Given the description of an element on the screen output the (x, y) to click on. 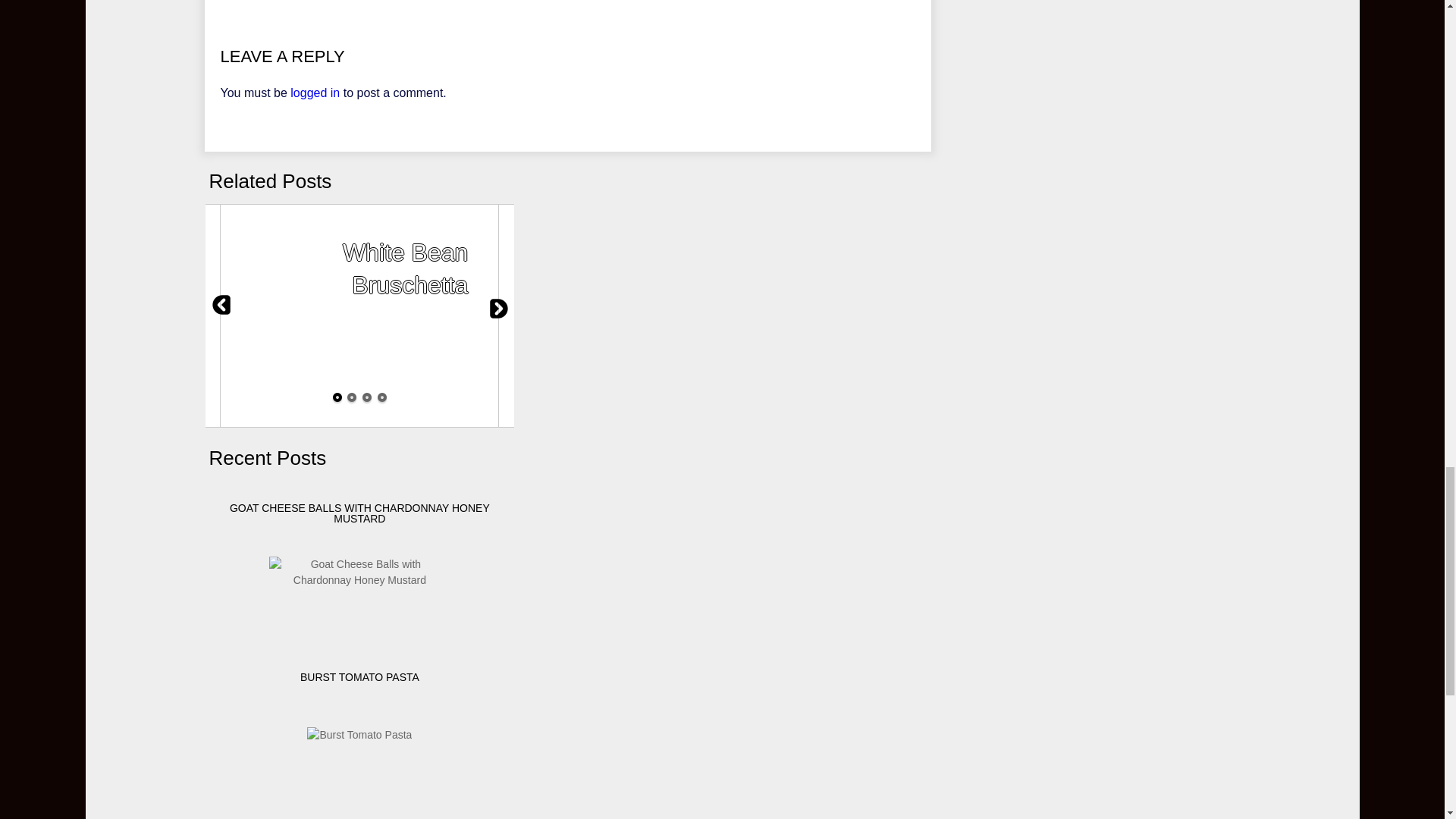
GOAT CHEESE BALLS WITH CHARDONNAY HONEY MUSTARD (360, 573)
White Bean Bruschetta (358, 315)
BURST TOMATO PASTA (360, 734)
logged in (314, 92)
